Given the description of an element on the screen output the (x, y) to click on. 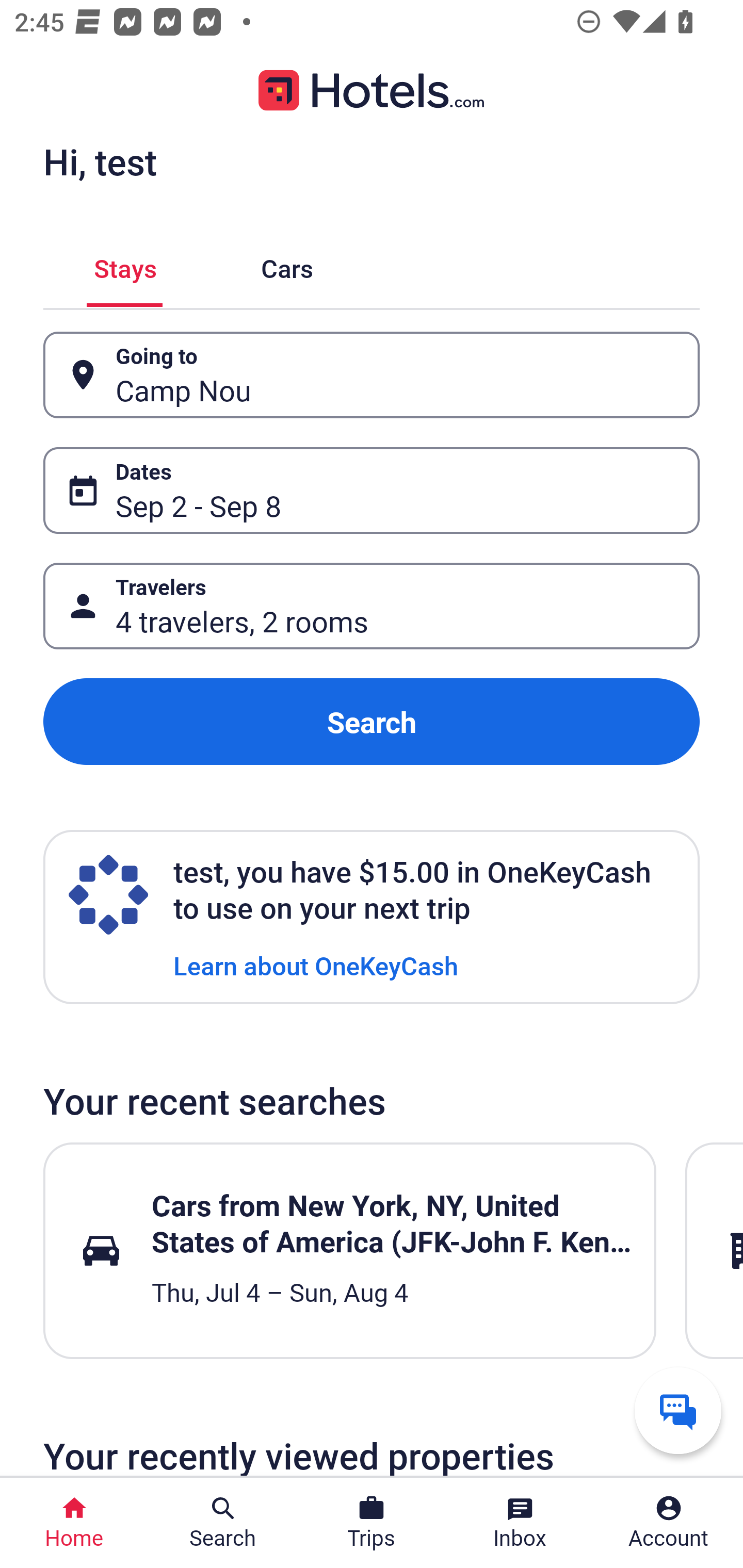
Hi, test (99, 161)
Cars (286, 265)
Going to Button Camp Nou (371, 375)
Dates Button Sep 2 - Sep 8 (371, 489)
Travelers Button 4 travelers, 2 rooms (371, 605)
Search (371, 721)
Learn about OneKeyCash Learn about OneKeyCash Link (315, 964)
Get help from a virtual agent (677, 1410)
Search Search Button (222, 1522)
Trips Trips Button (371, 1522)
Inbox Inbox Button (519, 1522)
Account Profile. Button (668, 1522)
